Given the description of an element on the screen output the (x, y) to click on. 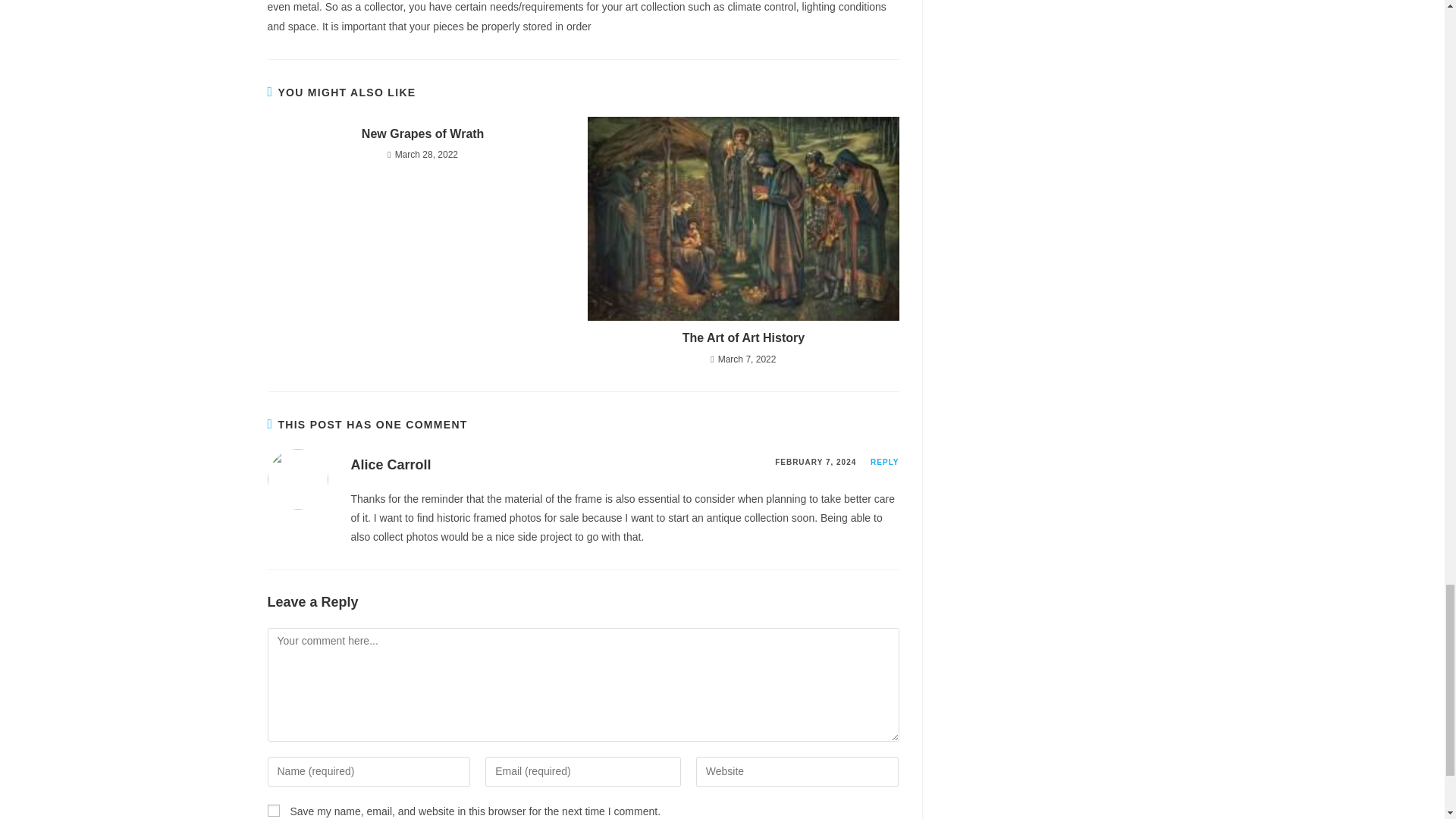
REPLY (884, 461)
Alice Carroll (390, 464)
yes (272, 810)
The Art of Art History (742, 338)
New Grapes of Wrath (422, 134)
The Art of Art History 2 (743, 219)
